Given the description of an element on the screen output the (x, y) to click on. 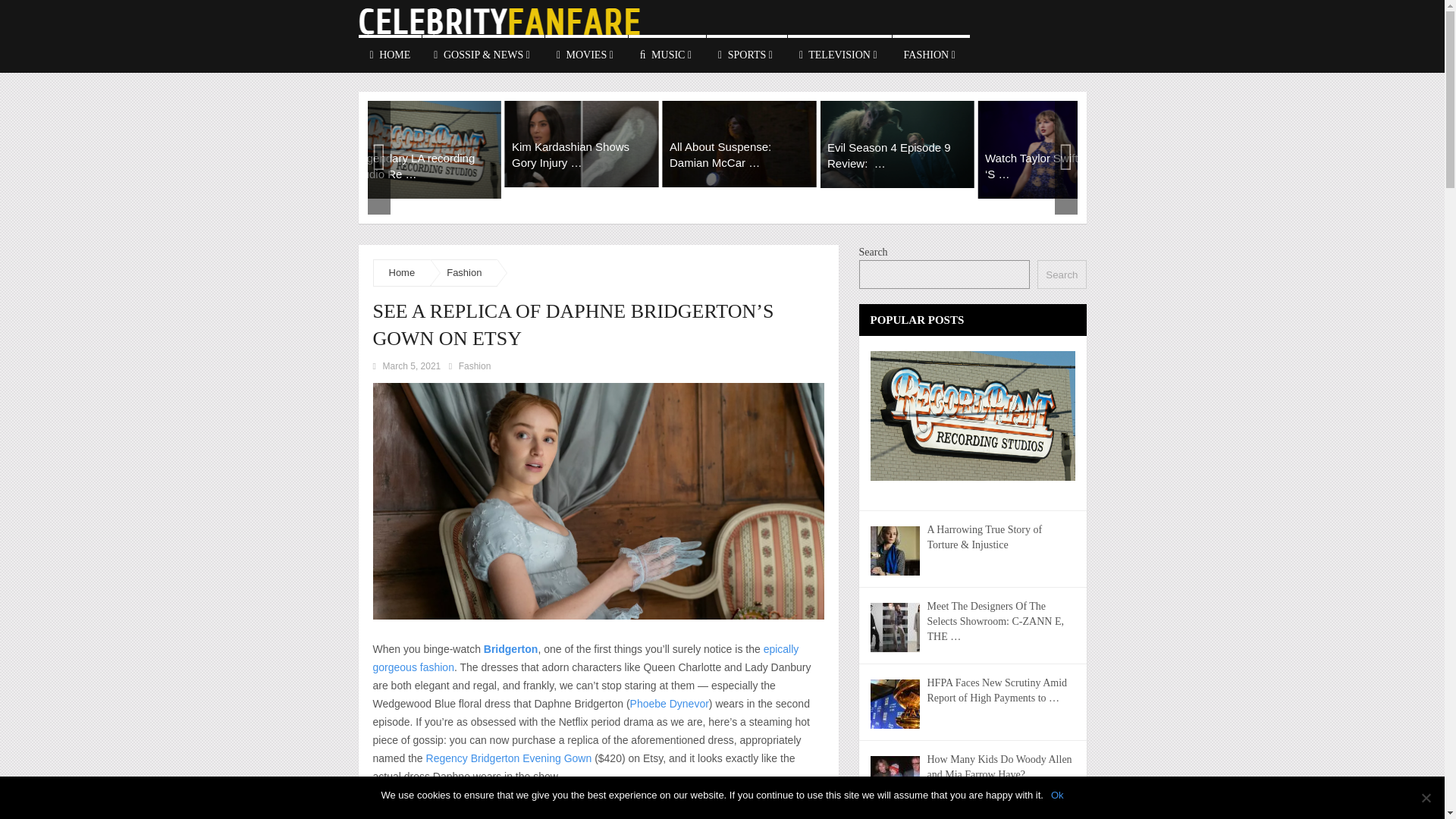
FASHION (930, 53)
SPORTS (746, 53)
HOME (390, 53)
MUSIC (667, 53)
TELEVISION (839, 53)
MOVIES (585, 53)
